Given the description of an element on the screen output the (x, y) to click on. 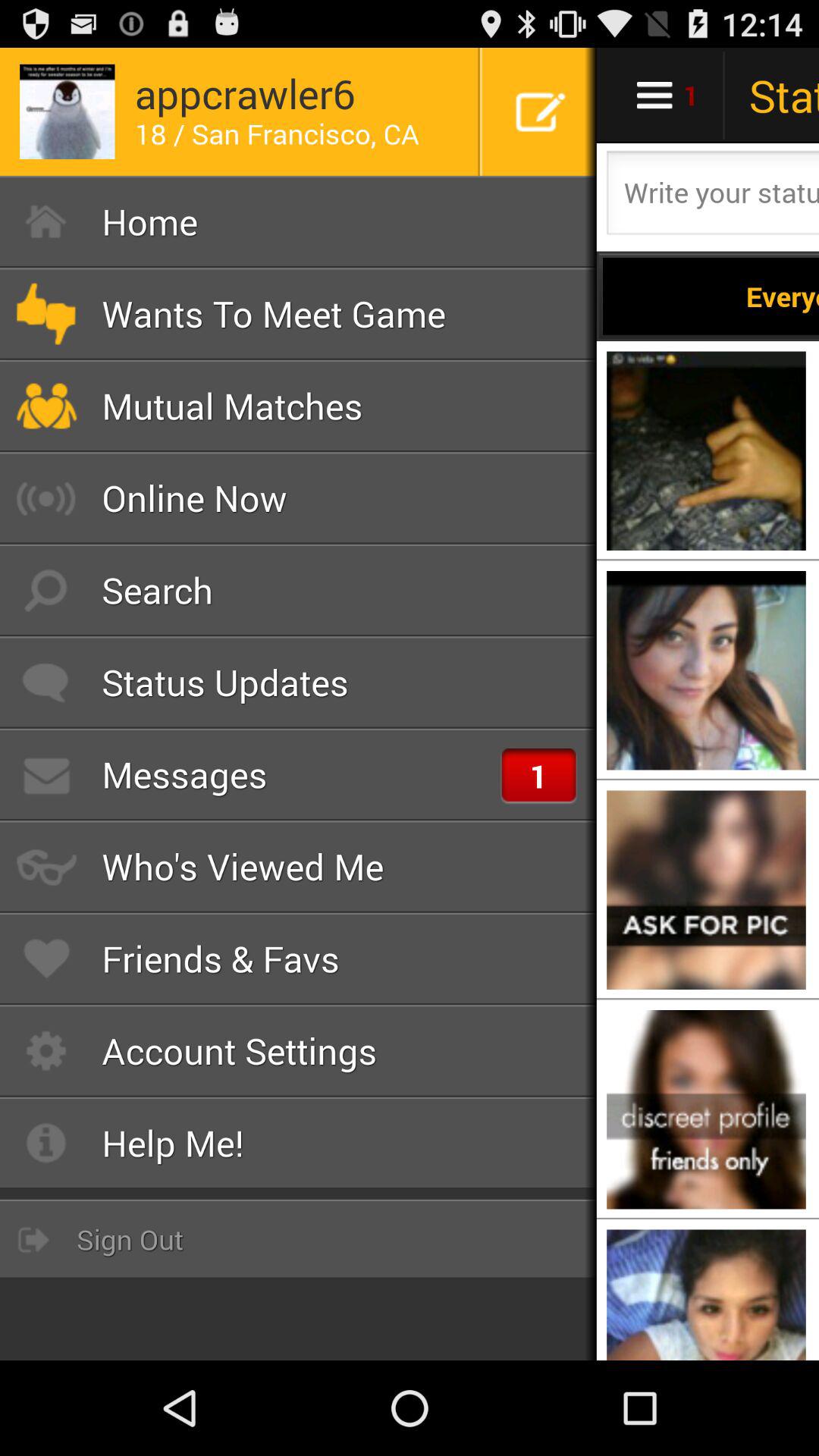
launch the item above who s viewed item (298, 774)
